Given the description of an element on the screen output the (x, y) to click on. 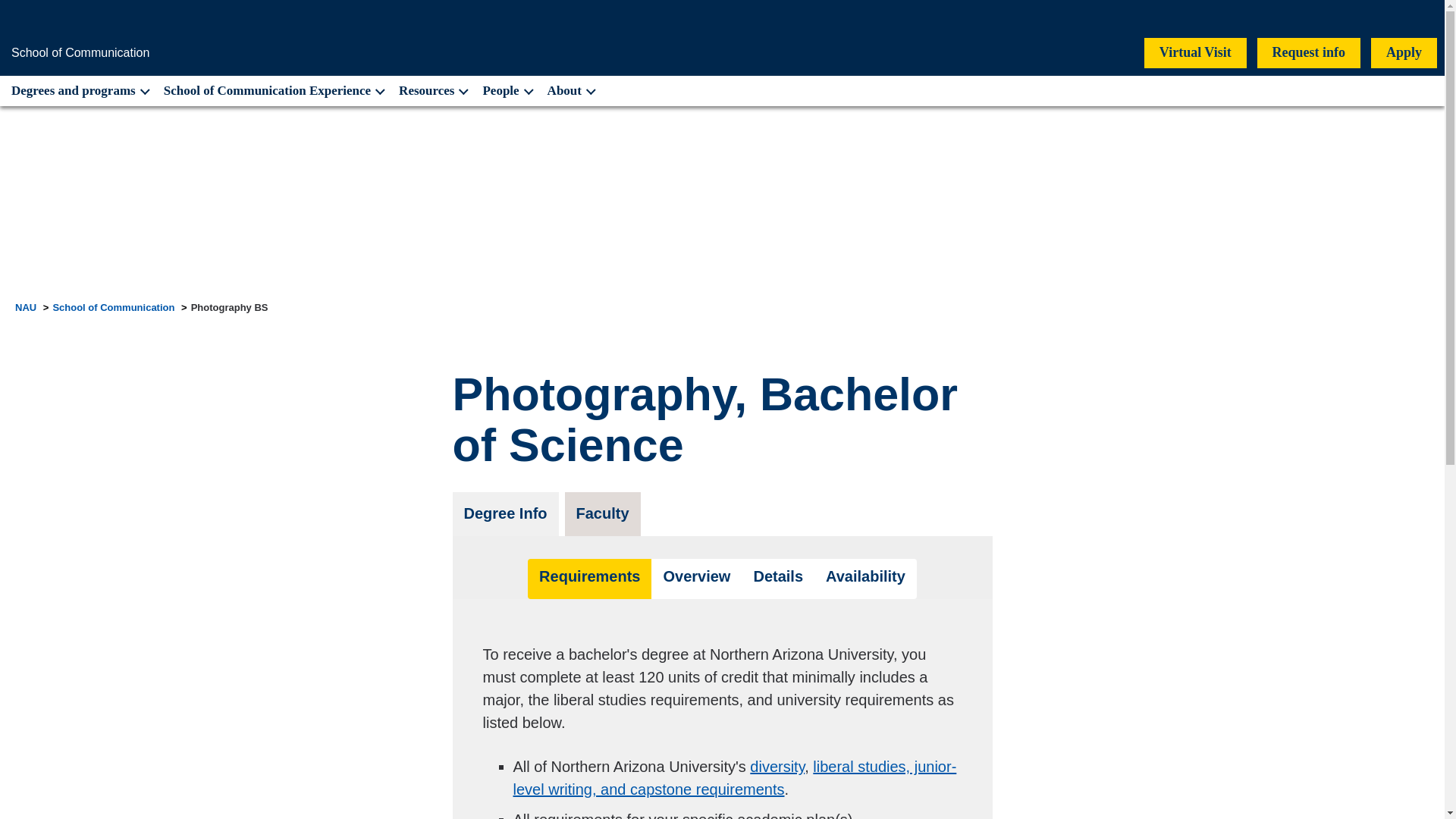
Virtual Visit (1195, 52)
School of Communication Experience (273, 91)
Degrees and programs (77, 91)
School of Communication (80, 52)
Request info (1309, 52)
Apply (1404, 52)
